Given the description of an element on the screen output the (x, y) to click on. 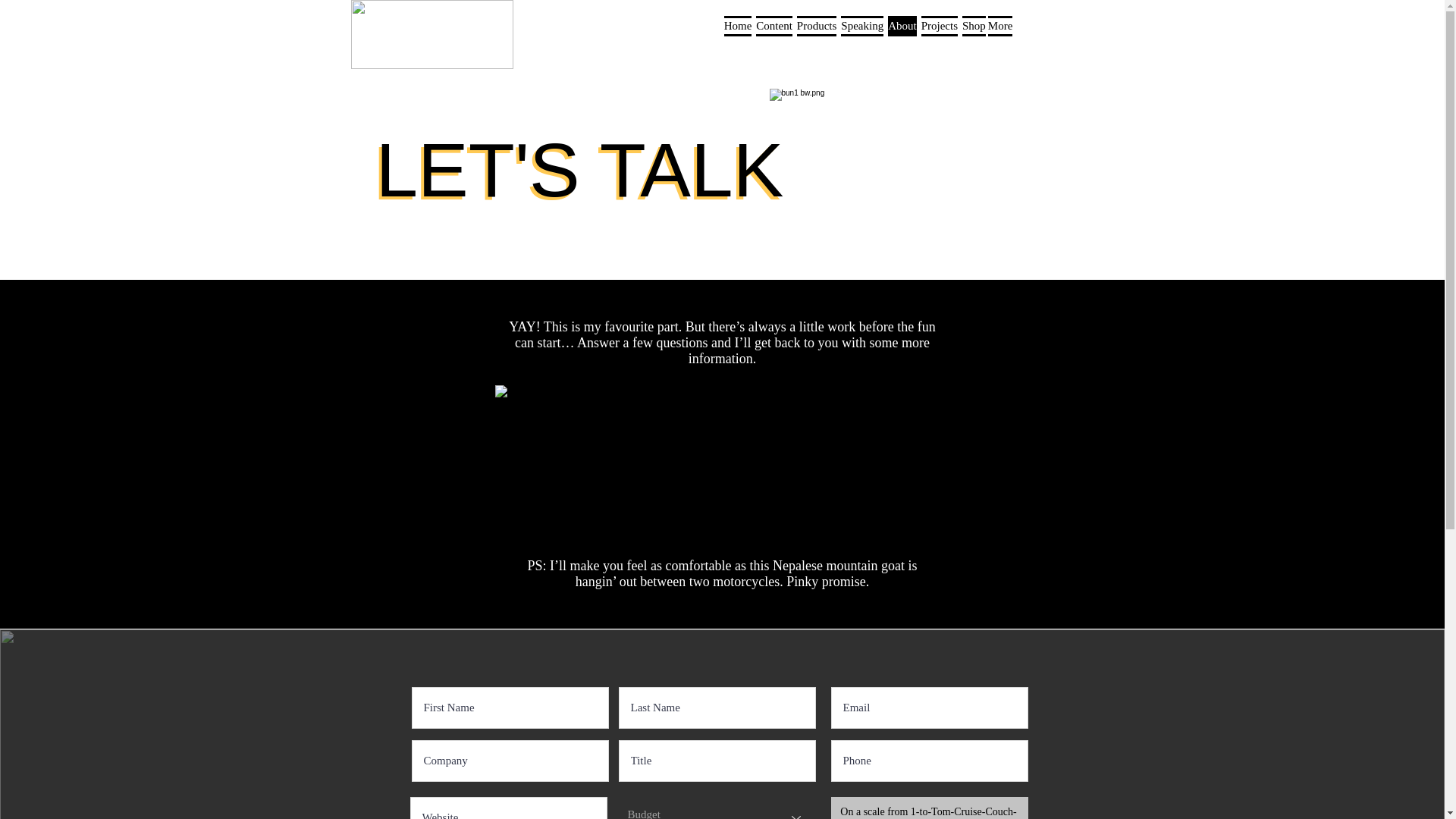
About (901, 33)
Speaking (861, 33)
Content (774, 33)
Projects (938, 33)
Products (817, 33)
